Given the description of an element on the screen output the (x, y) to click on. 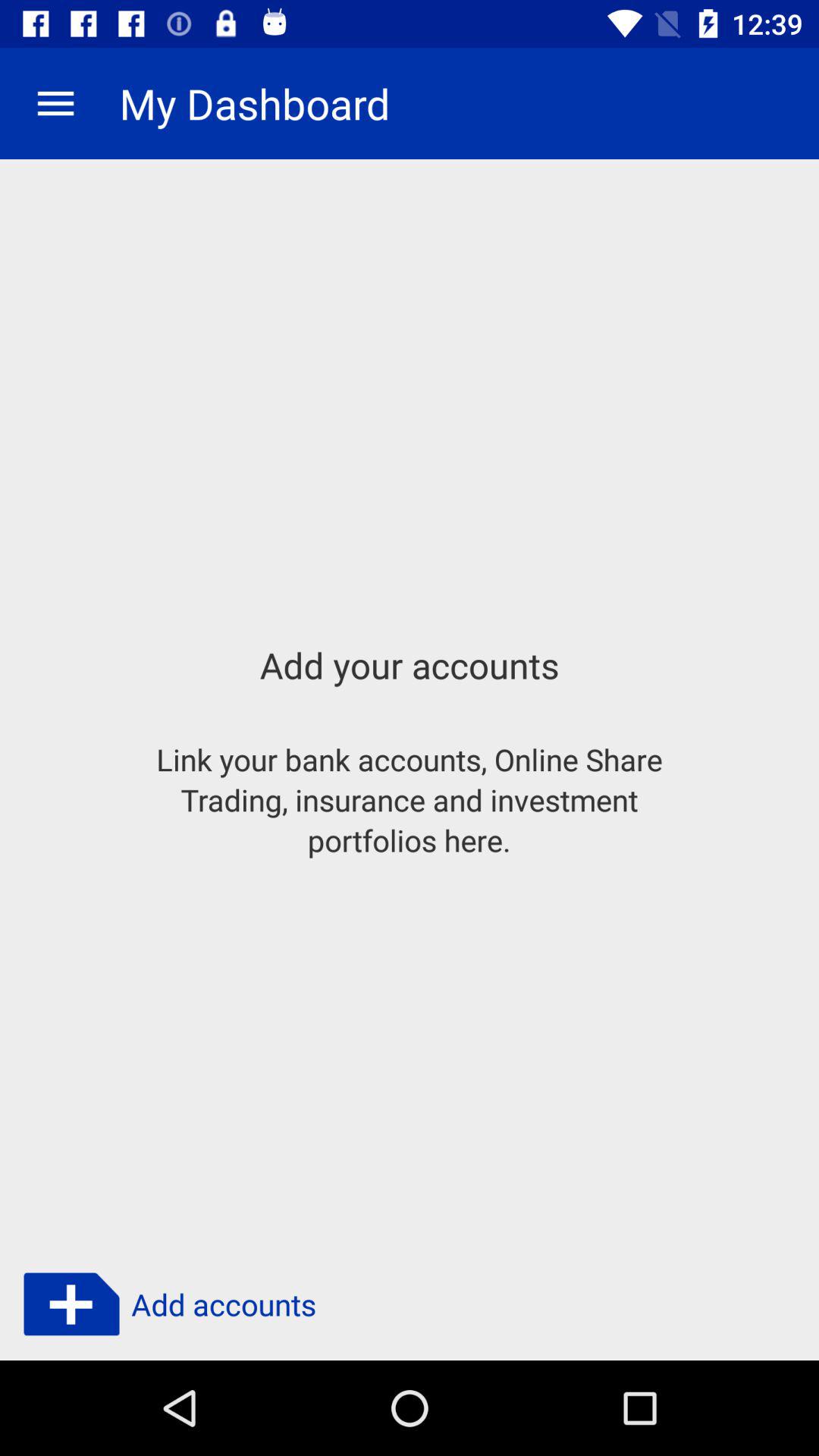
turn off icon next to the my dashboard (55, 103)
